Given the description of an element on the screen output the (x, y) to click on. 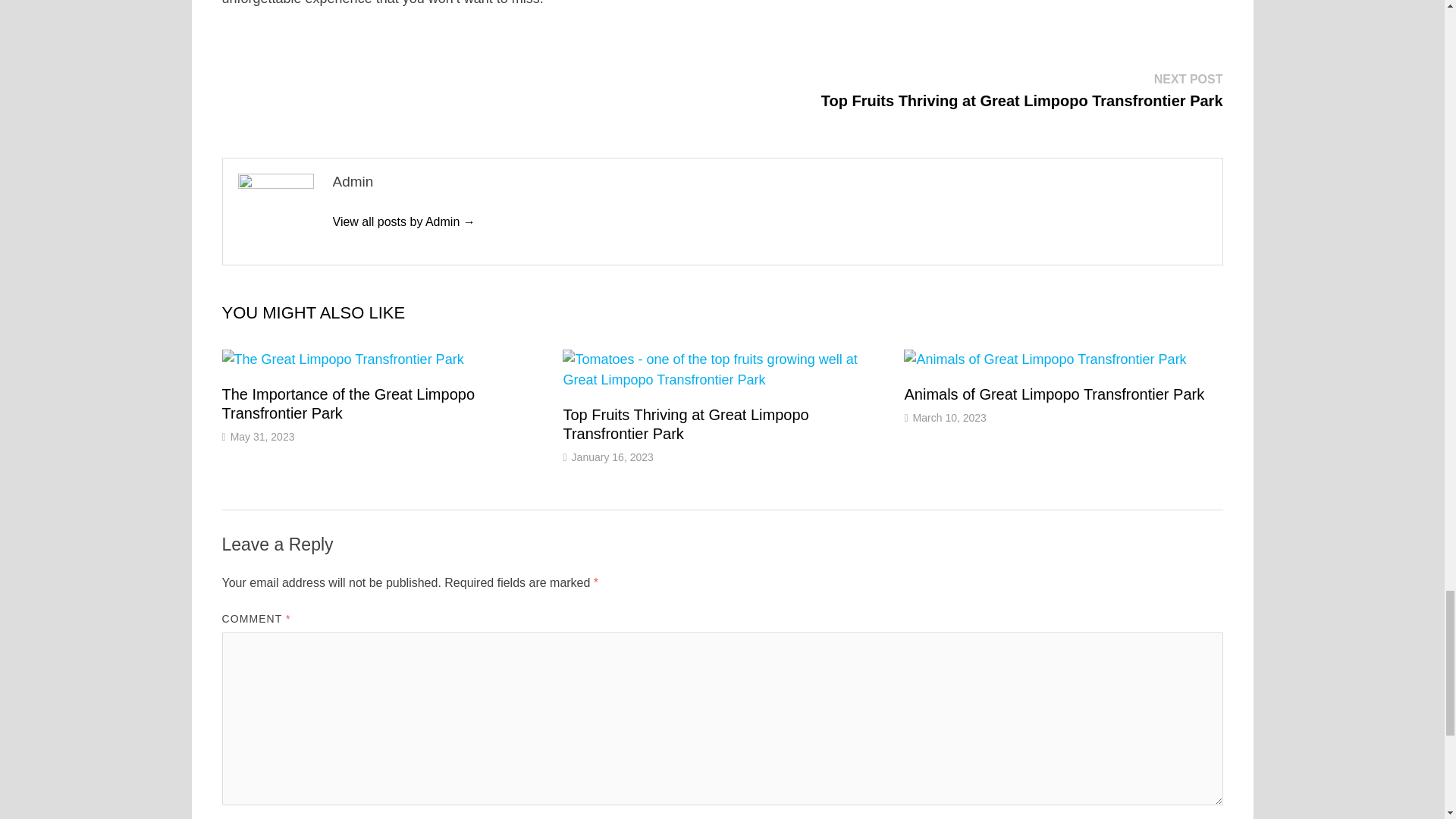
May 31, 2023 (262, 436)
Admin (402, 221)
March 10, 2023 (949, 417)
Top Fruits Thriving at Great Limpopo Transfrontier Park (685, 424)
The Importance of the Great Limpopo Transfrontier Park (347, 403)
January 16, 2023 (612, 457)
Animals of Great Limpopo Transfrontier Park (1054, 393)
Top Fruits Thriving at Great Limpopo Transfrontier Park (685, 424)
Animals of Great Limpopo Transfrontier Park (1054, 393)
The Importance of the Great Limpopo Transfrontier Park (347, 403)
